Given the description of an element on the screen output the (x, y) to click on. 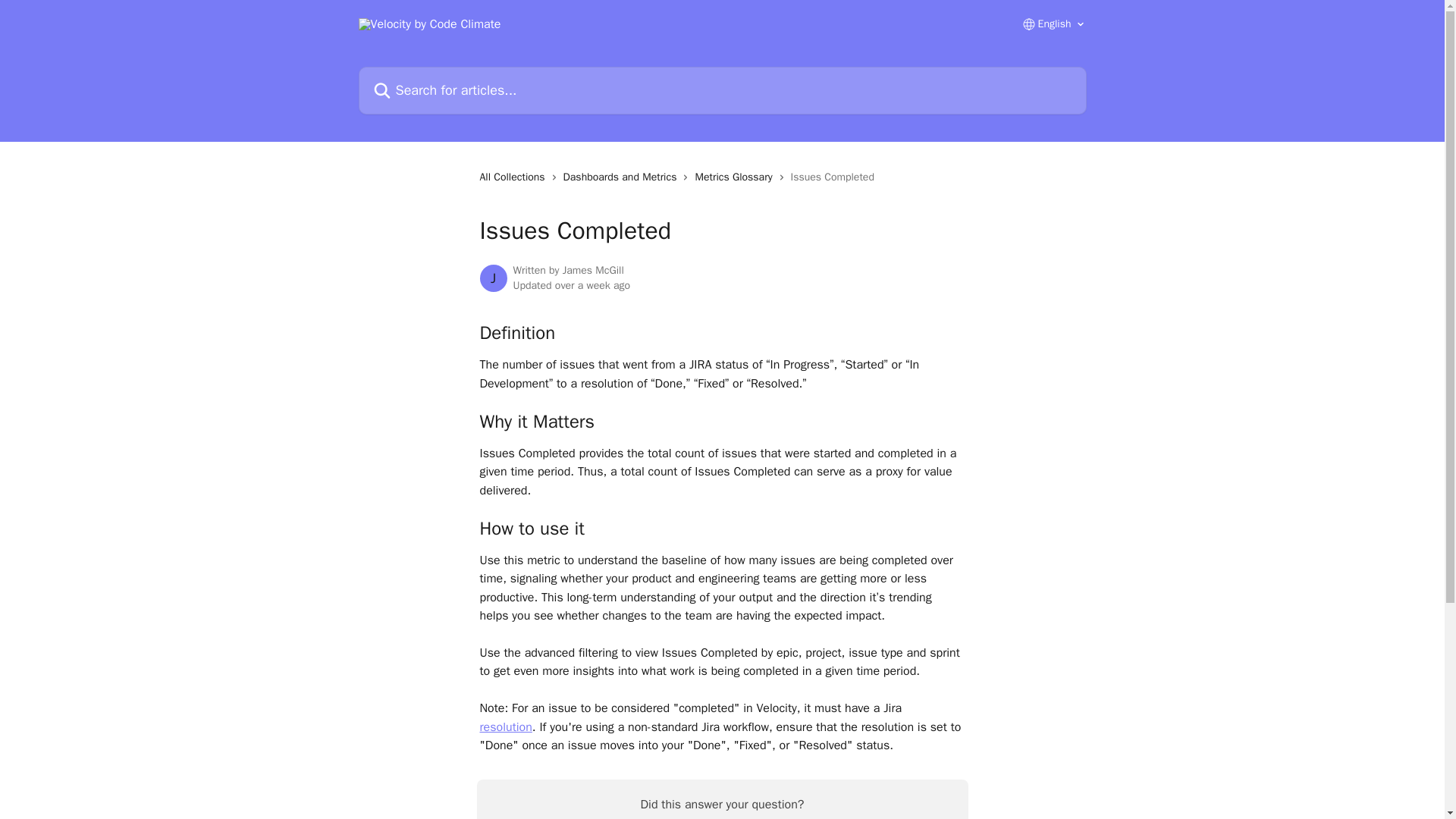
Dashboards and Metrics (622, 176)
All Collections (514, 176)
Metrics Glossary (735, 176)
resolution (505, 726)
